Given the description of an element on the screen output the (x, y) to click on. 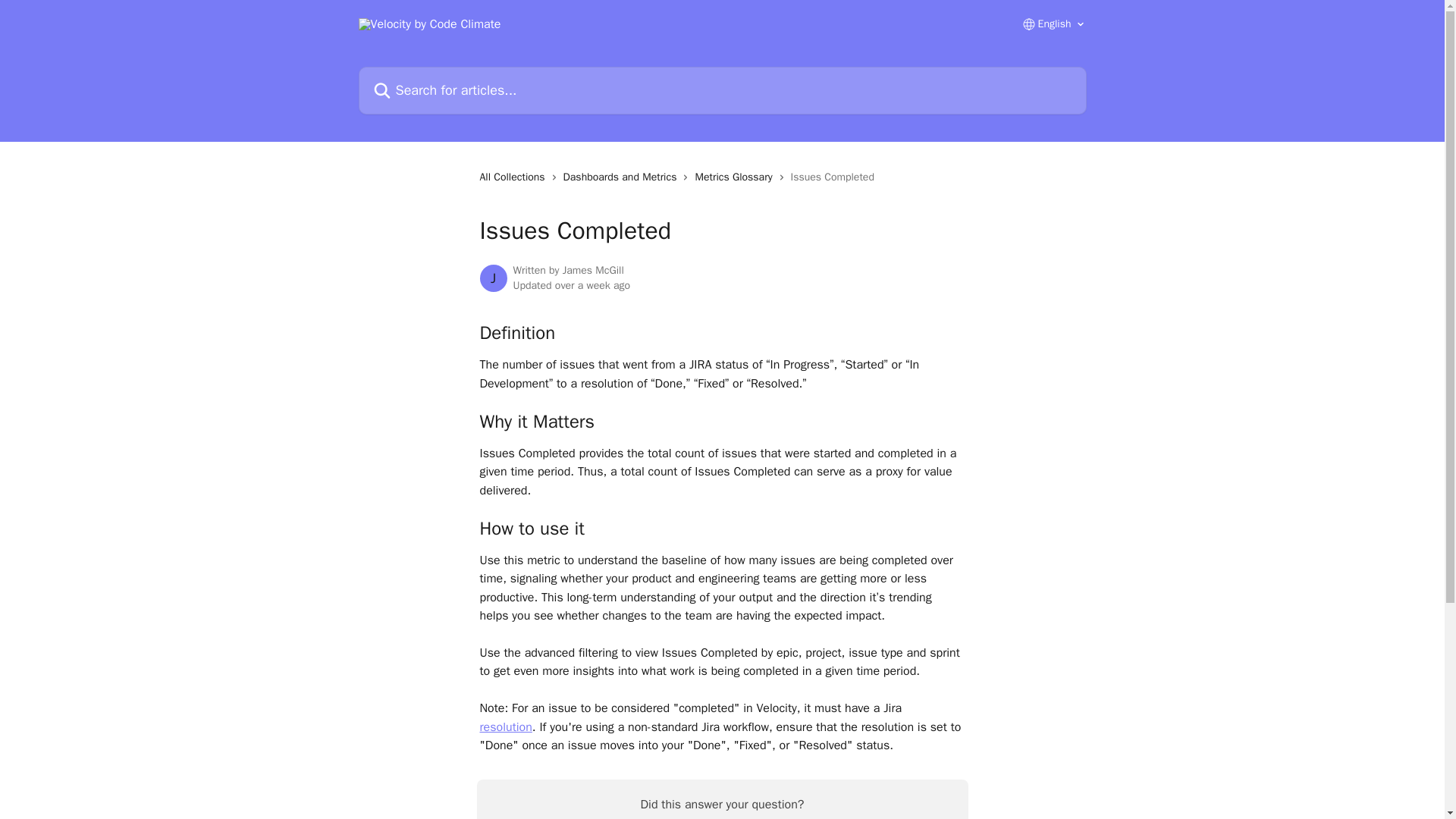
Dashboards and Metrics (622, 176)
All Collections (514, 176)
Metrics Glossary (735, 176)
resolution (505, 726)
